Given the description of an element on the screen output the (x, y) to click on. 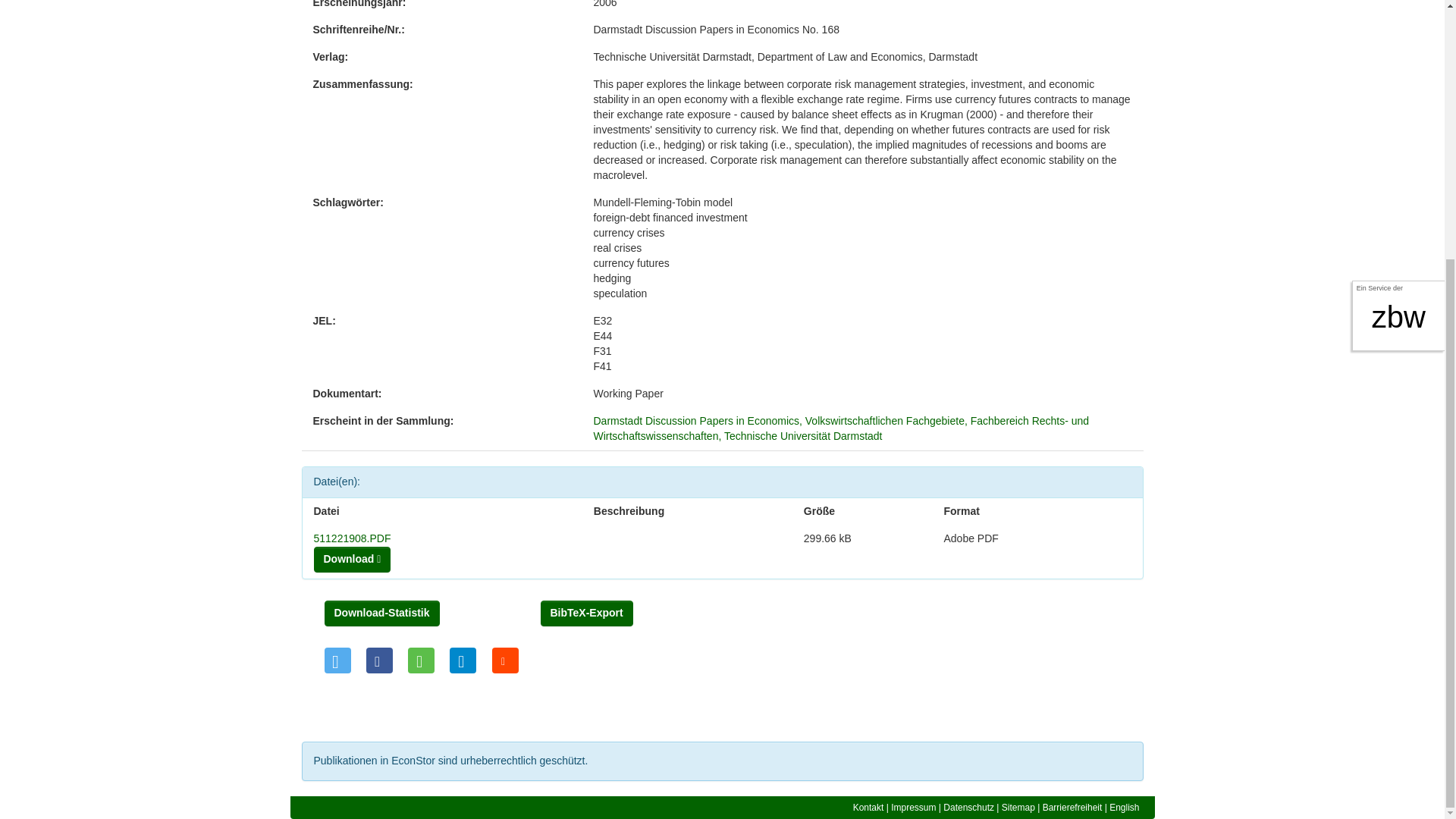
Bei Whatsapp teilen (420, 660)
Bei Facebook teilen (379, 660)
Bei Telegram teilen (462, 660)
Bei Twitter teilen (337, 660)
Bei Reddit teilen (505, 660)
